Given the description of an element on the screen output the (x, y) to click on. 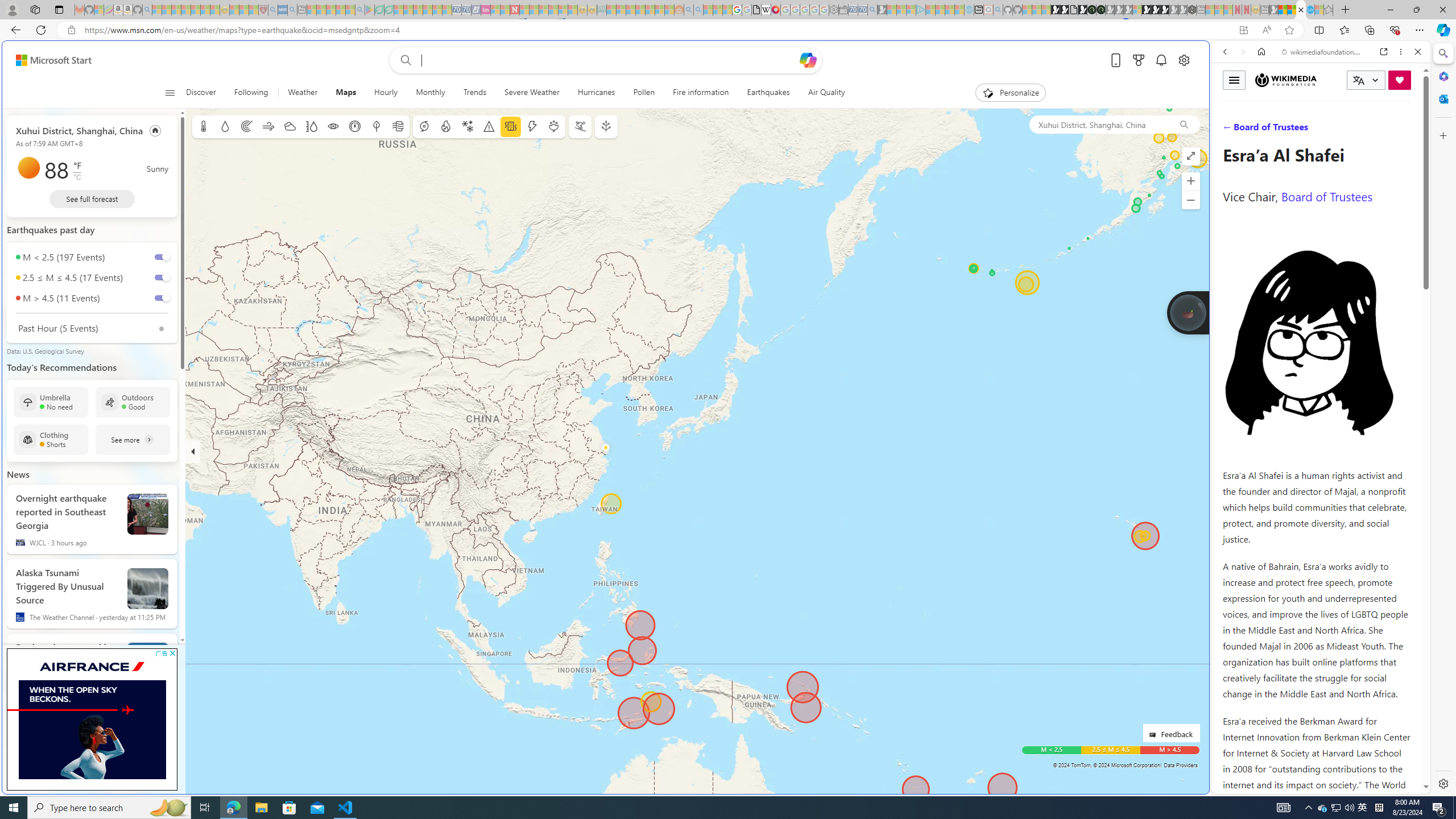
Severe Weather (532, 92)
Class: b_serphb (1404, 130)
Alaska Tsunami Triggered By Unusual Source (67, 584)
Microsoft Start - Sleeping (949, 9)
Radar (246, 126)
Feedback (1170, 732)
Pollen (553, 126)
